Given the description of an element on the screen output the (x, y) to click on. 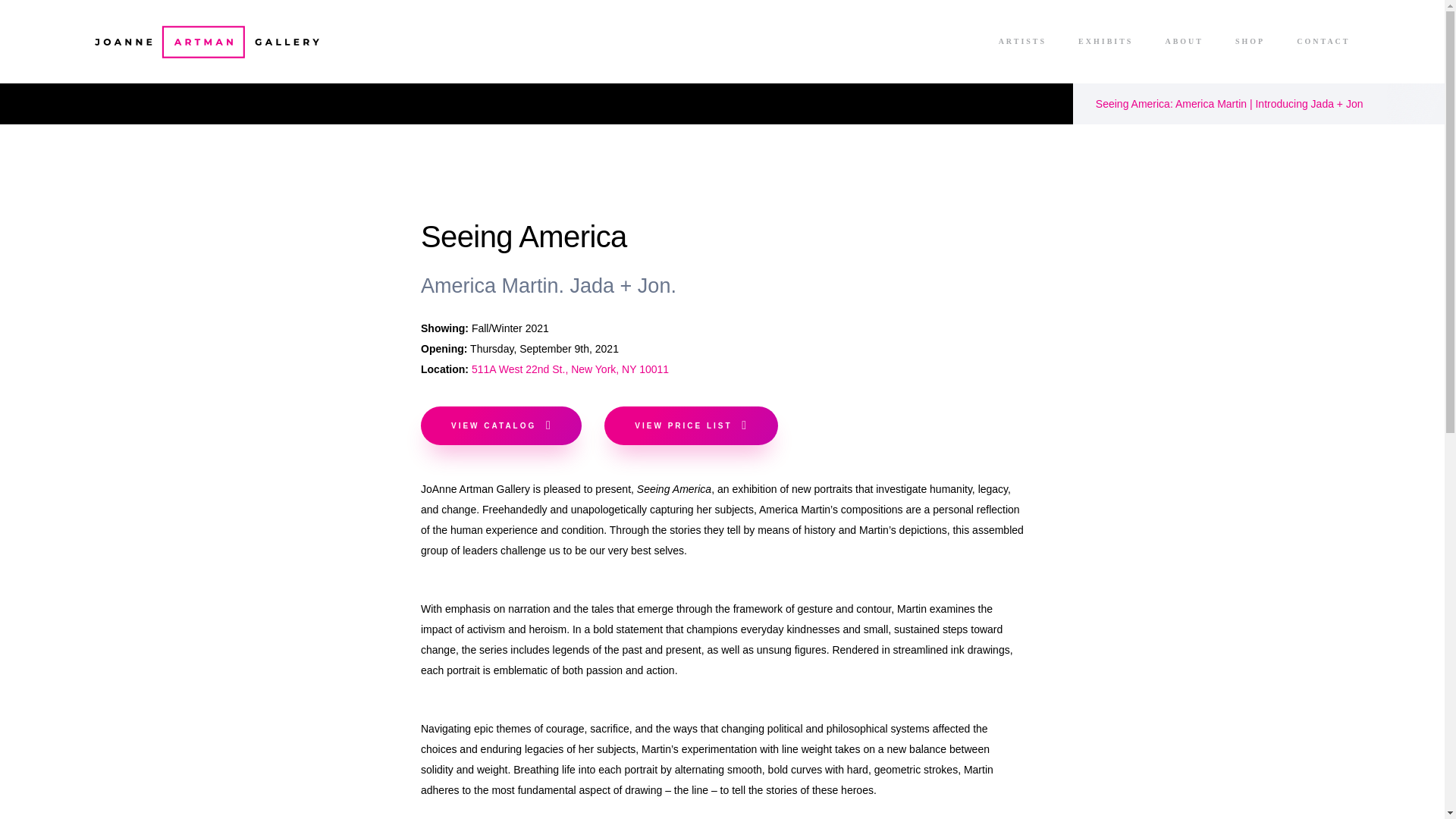
ABOUT (1191, 40)
CONTACT (1318, 40)
ARTISTS (1030, 40)
SHOP (1257, 40)
EXHIBITS (1113, 40)
